Given the description of an element on the screen output the (x, y) to click on. 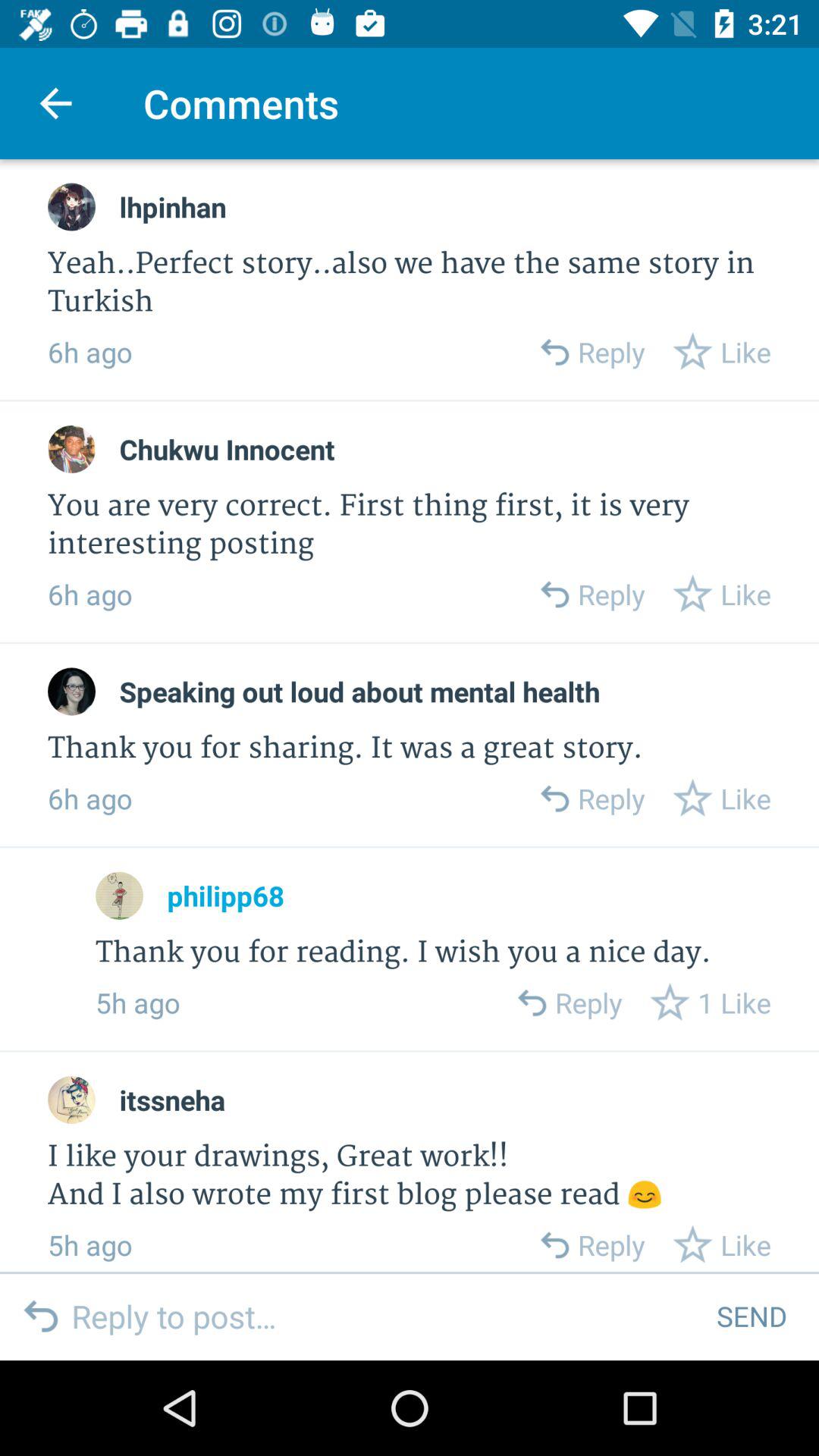
go to page (71, 691)
